Given the description of an element on the screen output the (x, y) to click on. 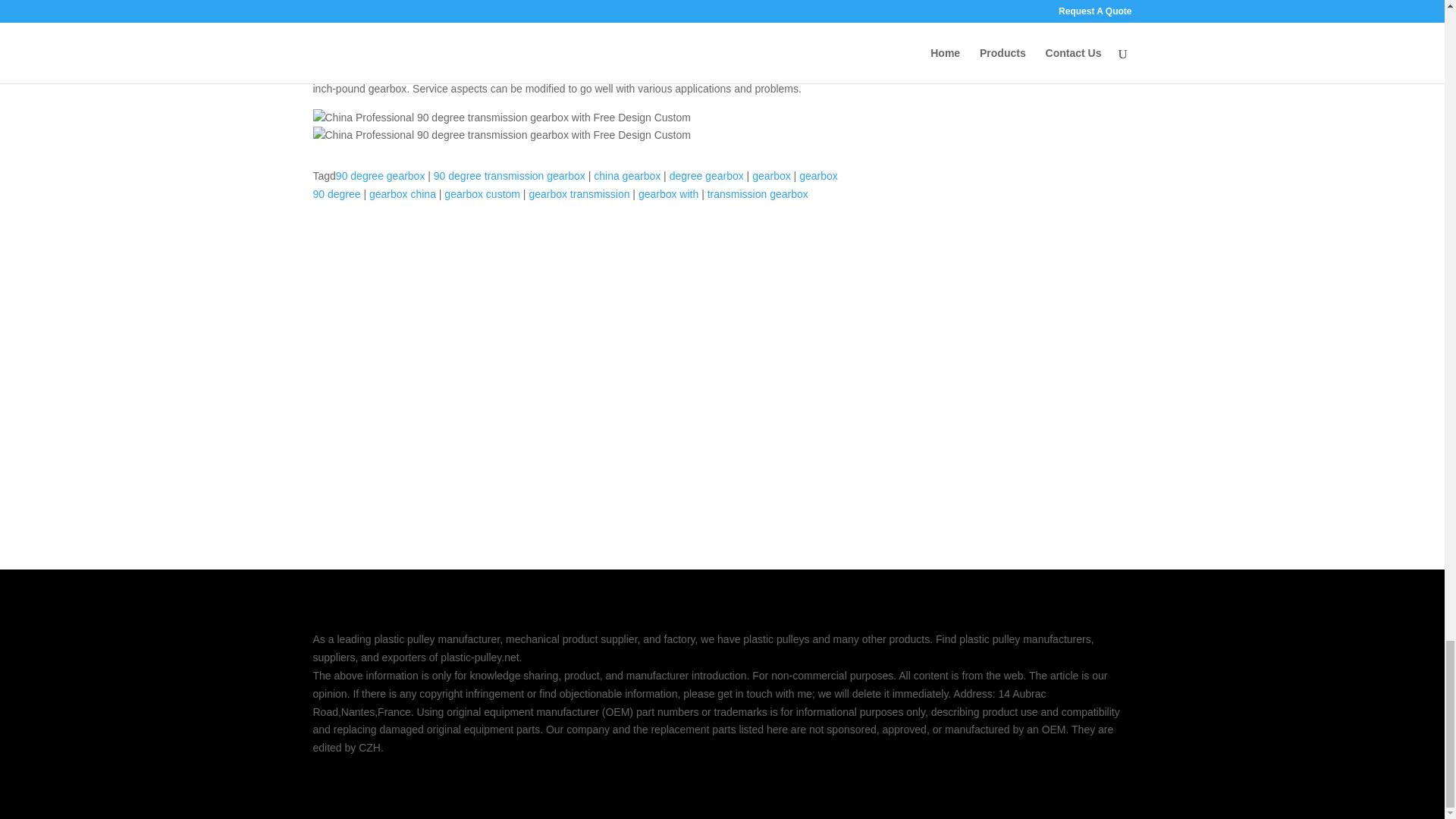
gearbox transmission (578, 193)
gearbox with (668, 193)
gearbox custom (481, 193)
degree gearbox (706, 175)
90 degree gearbox (380, 175)
gearbox china (402, 193)
china gearbox (627, 175)
gearbox 90 degree (575, 184)
90 degree transmission gearbox (509, 175)
transmission gearbox (757, 193)
